Given the description of an element on the screen output the (x, y) to click on. 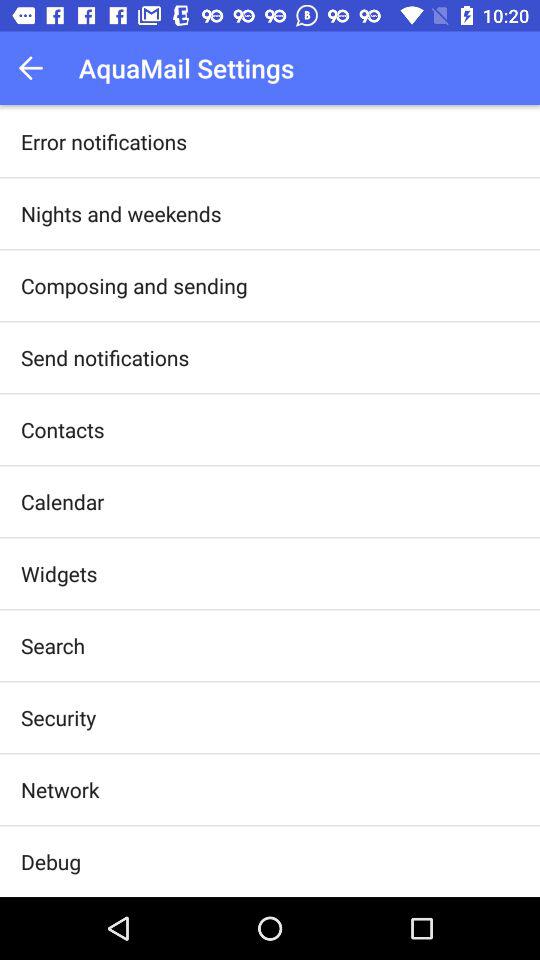
select app above the calendar app (62, 429)
